Given the description of an element on the screen output the (x, y) to click on. 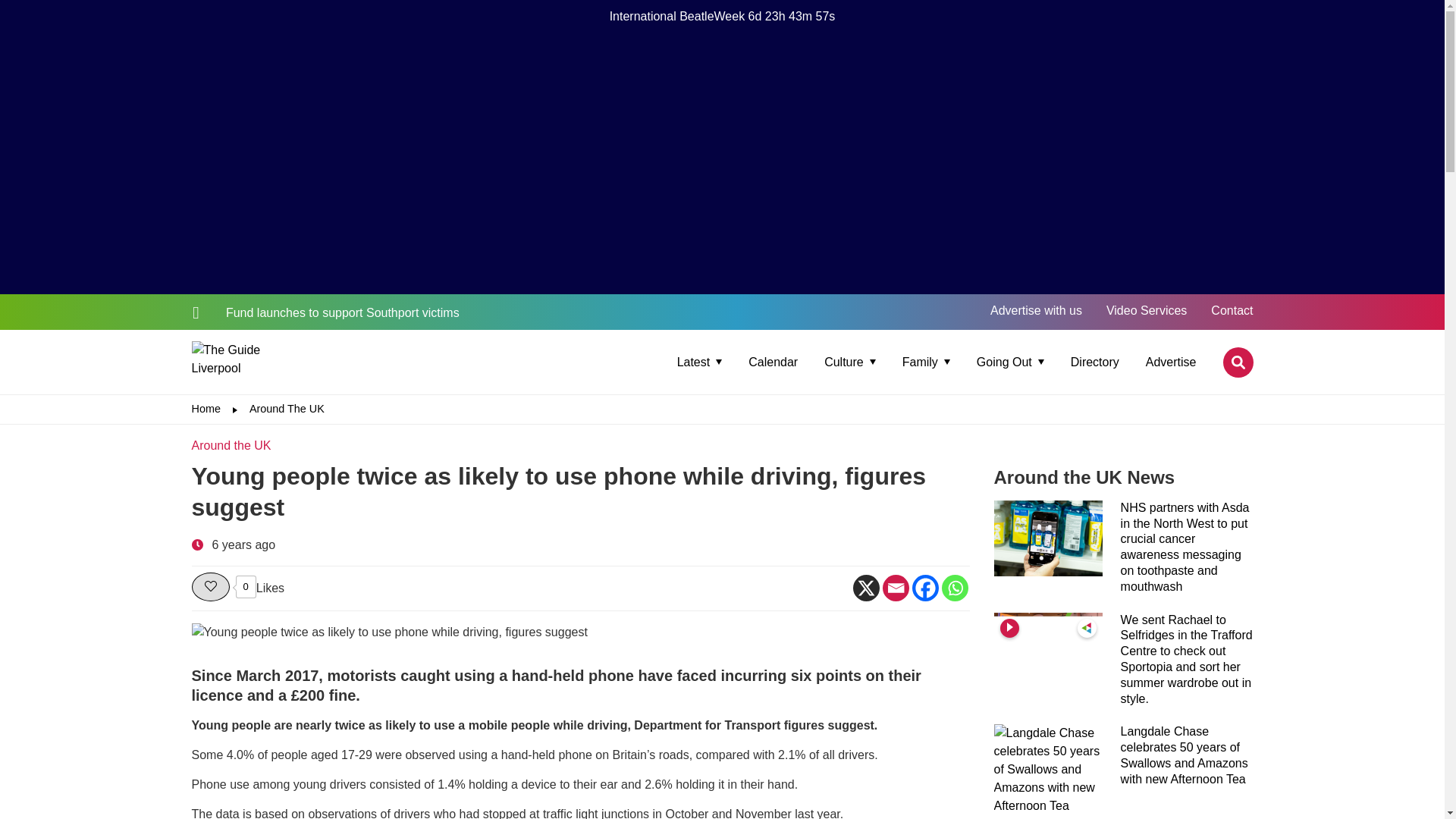
Fund launches to support Southport victims (324, 312)
Video Services (1146, 309)
Facebook (924, 587)
Email (895, 587)
Advertise with us (1035, 309)
Whatsapp (955, 587)
Contact (1231, 309)
X (865, 587)
